Given the description of an element on the screen output the (x, y) to click on. 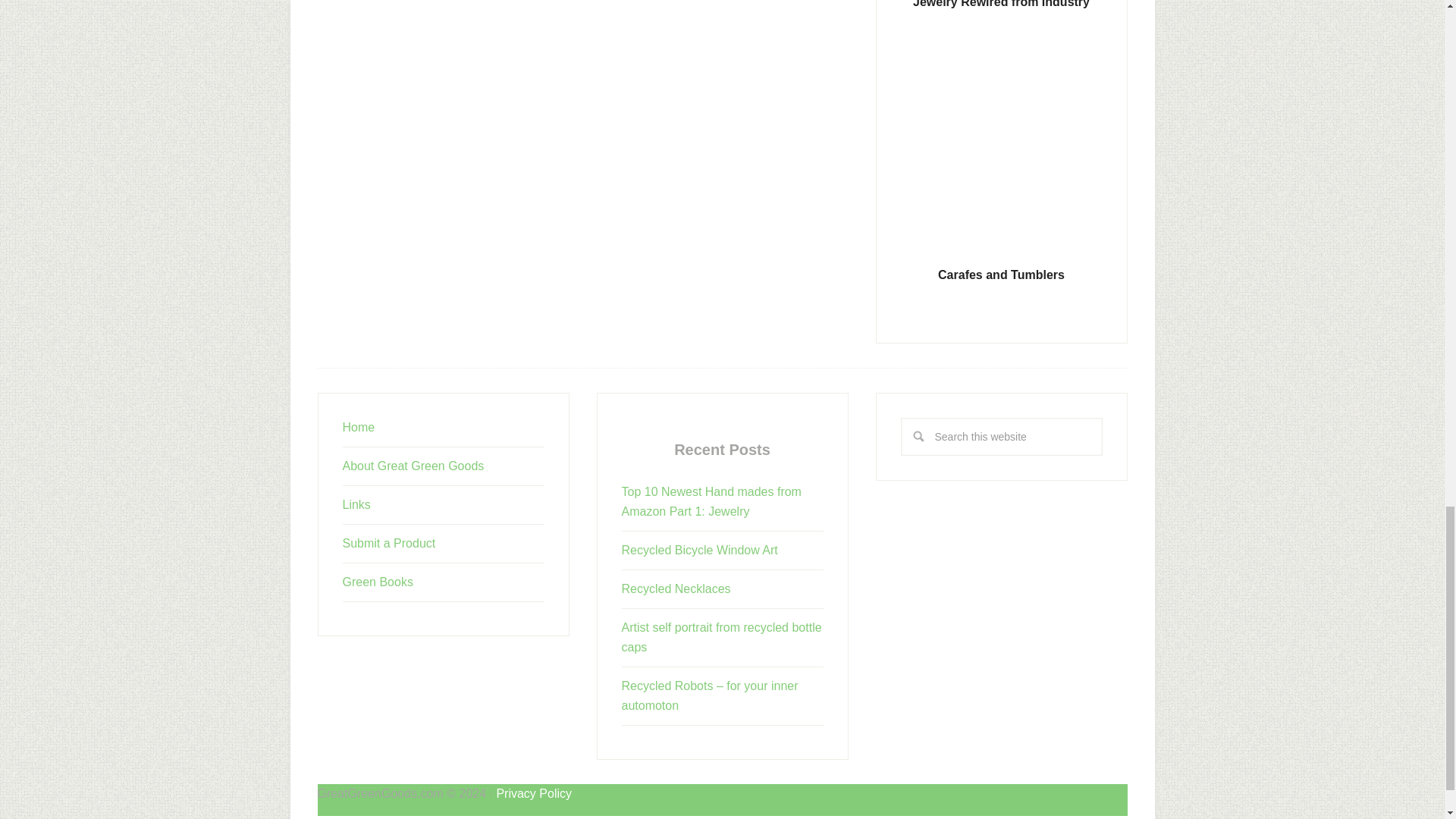
Submit a Product (388, 543)
Carafes and Tumblers (1000, 274)
Green Books (377, 581)
About Great Green Goods (413, 465)
Jewelry Rewired from Industry (1000, 4)
Top 10 Newest Hand mades from Amazon Part 1: Jewelry (711, 501)
Home (358, 427)
Links (356, 504)
Artist self portrait from recycled bottle caps (721, 636)
